Given the description of an element on the screen output the (x, y) to click on. 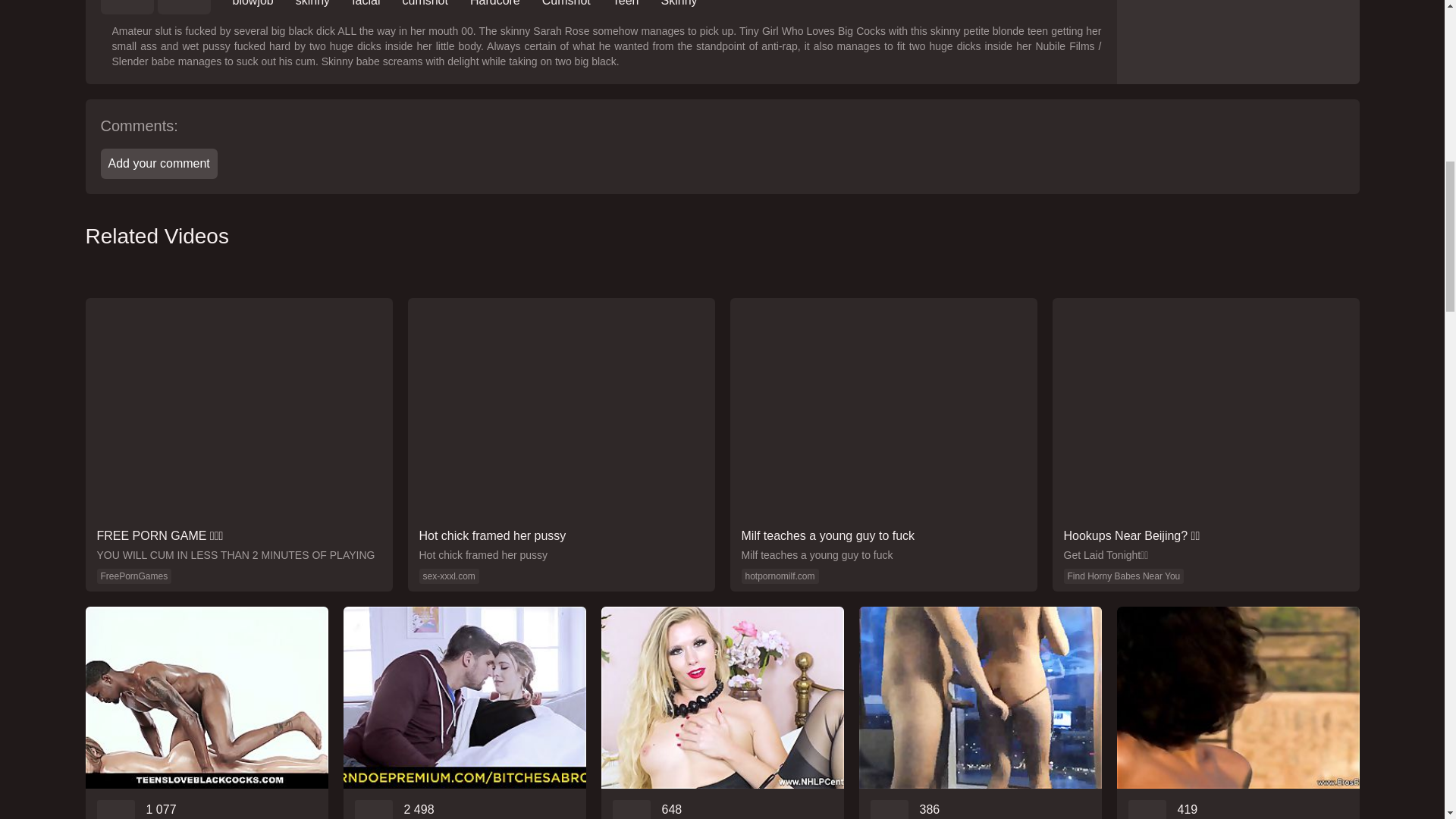
ravaging bi-atch opens up her coochie (979, 712)
Cumshot (566, 3)
Moka Mora gets a shot of pure ebony (205, 712)
Skinny (679, 3)
cumshot (423, 3)
blowjob (252, 3)
super-naughty blond jerks in sheer black (721, 712)
Tantra Exploration For new-comers (1237, 712)
Teen (625, 3)
